Given the description of an element on the screen output the (x, y) to click on. 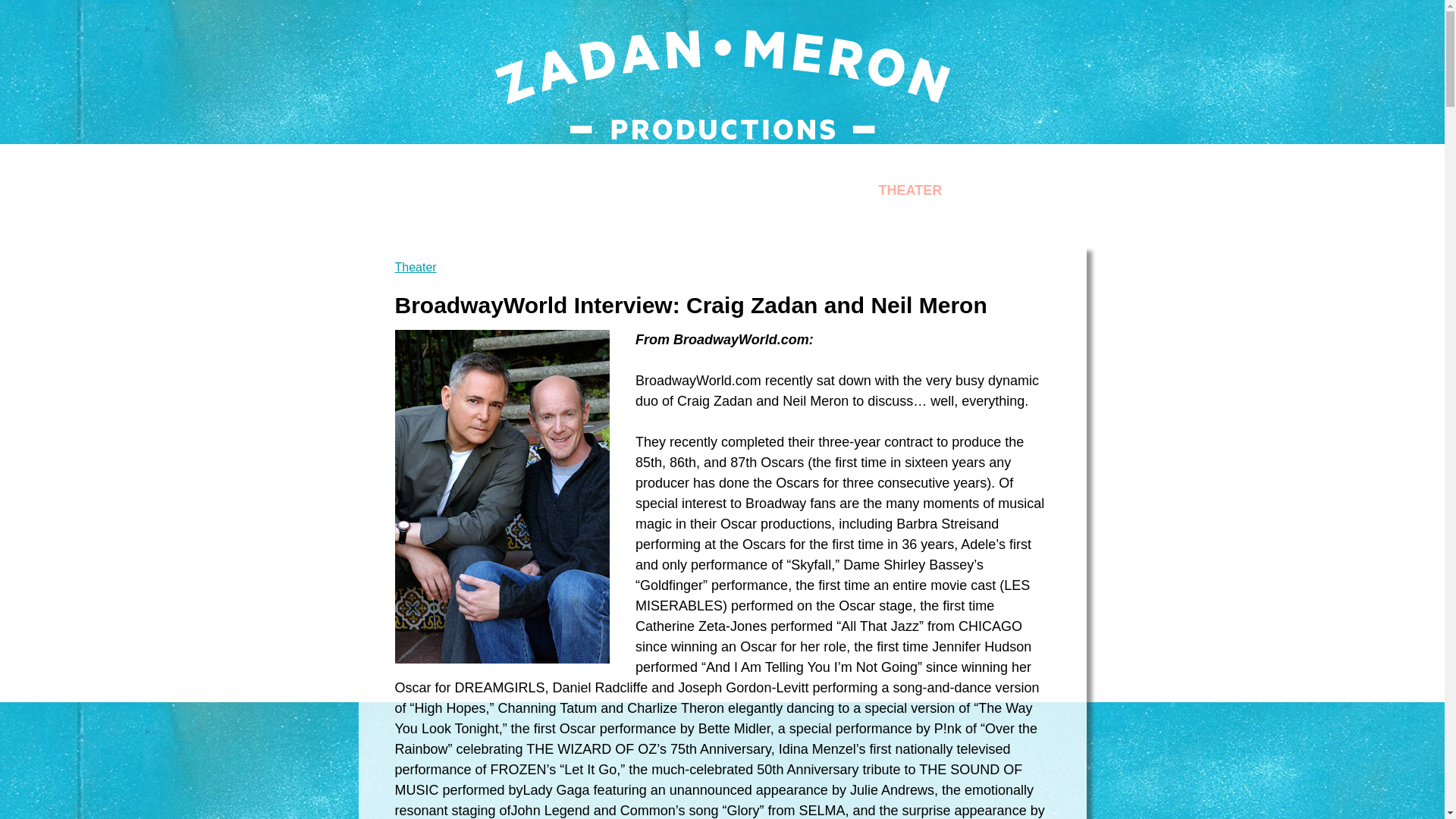
NEWS (688, 190)
ABOUT US (606, 190)
Theater (721, 275)
THEATER (910, 190)
HOME (522, 190)
FEATURES (771, 190)
